Given the description of an element on the screen output the (x, y) to click on. 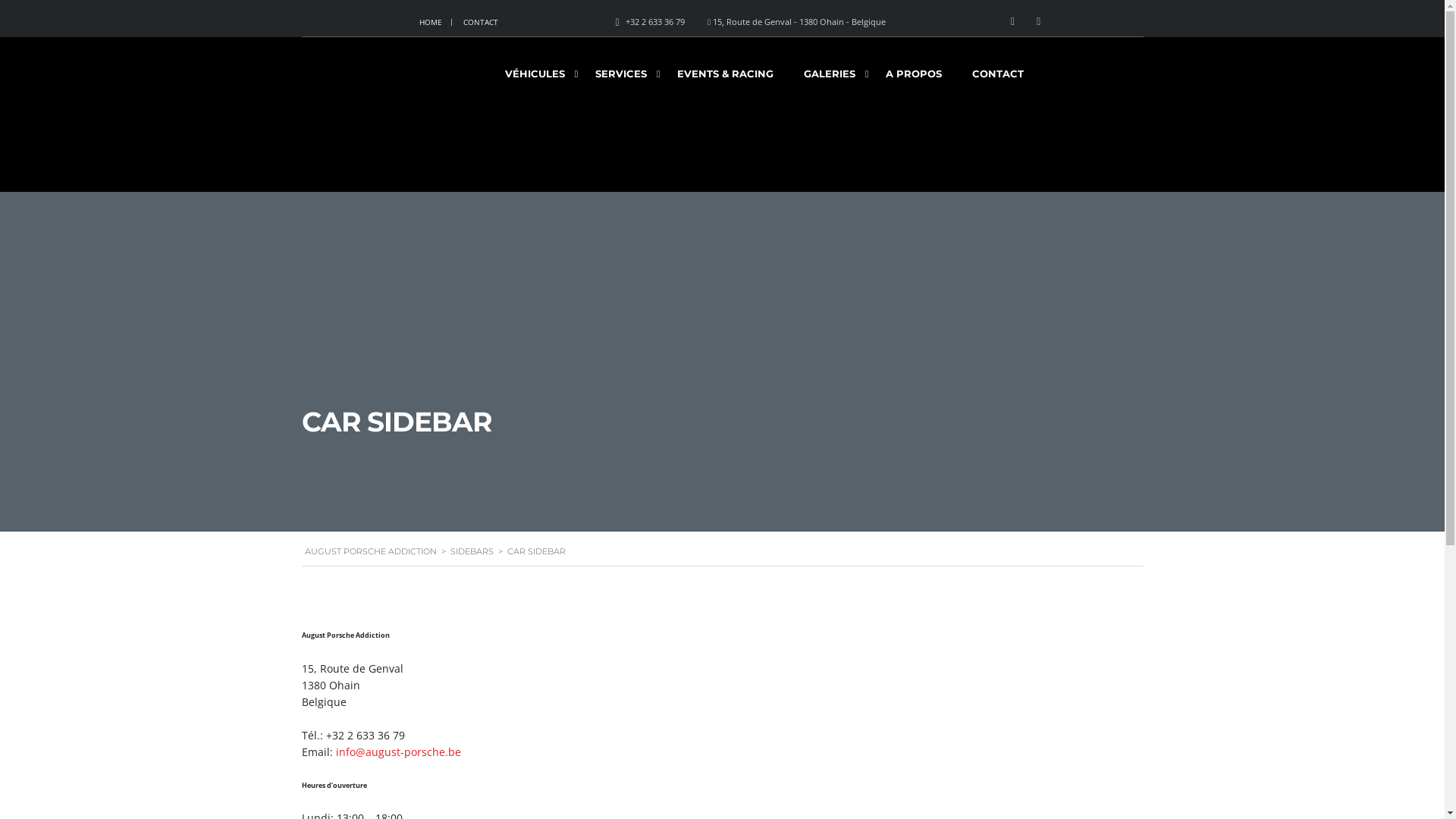
CONTACT Element type: text (480, 21)
HOME Element type: text (430, 21)
SERVICES Element type: text (620, 78)
CONTACT Element type: text (997, 78)
A PROPOS Element type: text (913, 78)
Accueil Element type: hover (358, 120)
+32 2 633 36 79 Element type: text (365, 735)
+32 2 633 36 79 Element type: text (654, 21)
SIDEBARS Element type: text (471, 551)
AUGUST PORSCHE ADDICTION Element type: text (370, 551)
GALERIES Element type: text (829, 78)
info@august-porsche.be Element type: text (397, 751)
EVENTS & RACING Element type: text (724, 78)
